Given the description of an element on the screen output the (x, y) to click on. 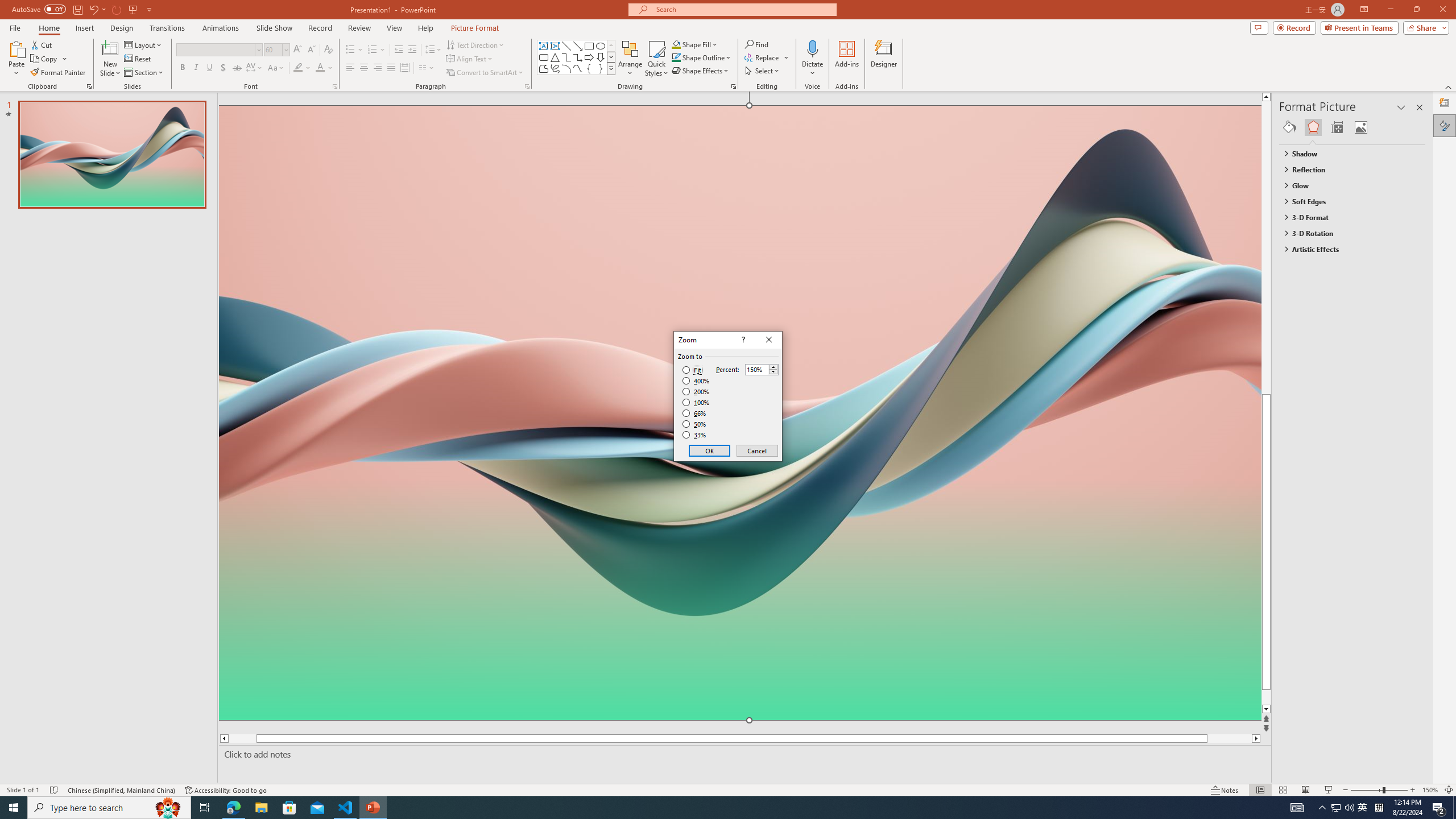
Effects (1313, 126)
